Given the description of an element on the screen output the (x, y) to click on. 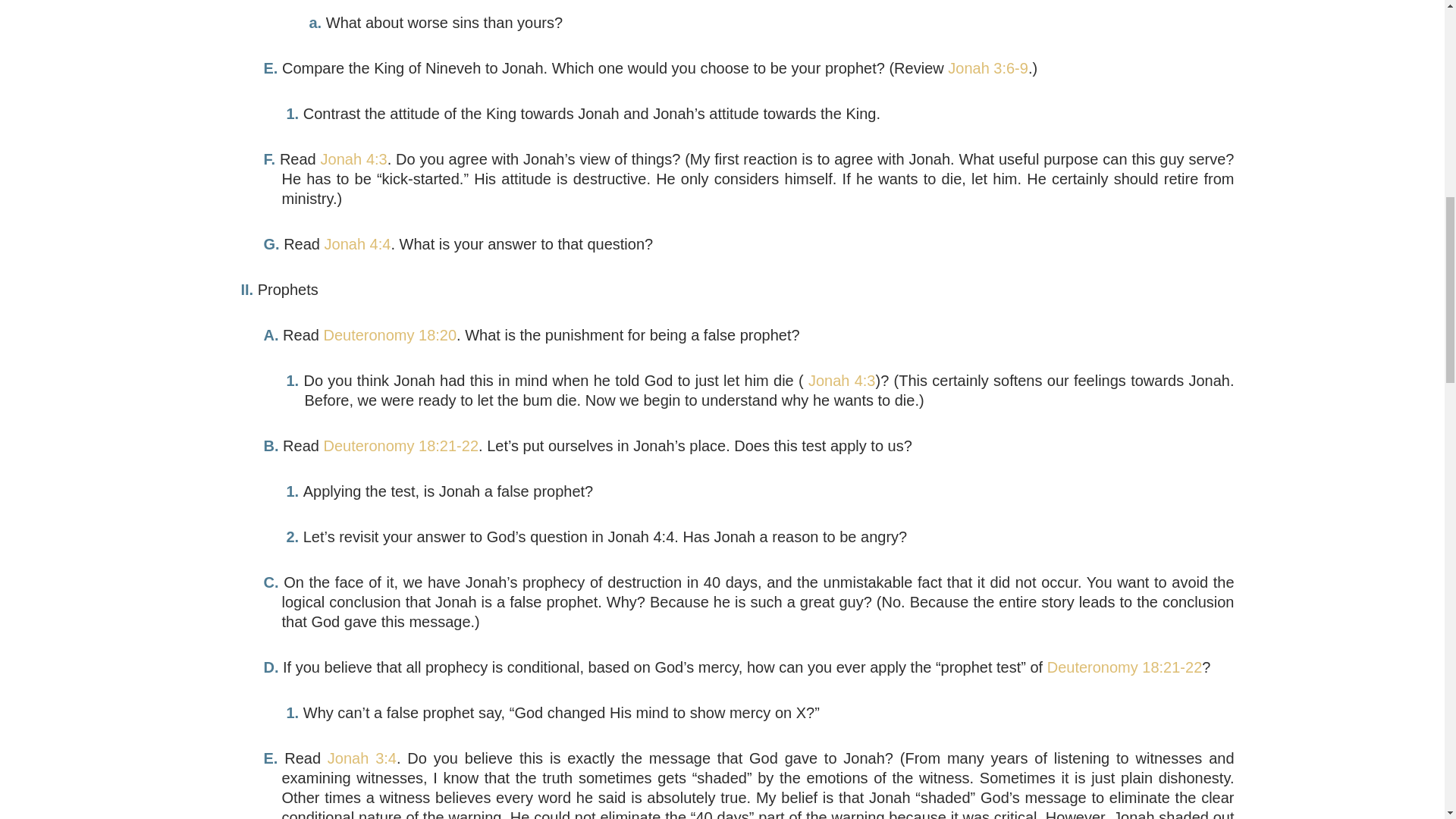
Deuteronomy 18:20 (390, 334)
Jonah 3:4 (361, 758)
Deuteronomy 18:21-22 (1124, 667)
Jonah 4:3 (839, 380)
Jonah 4:4 (357, 243)
Jonah 4:3 (353, 158)
Deuteronomy 18:21-22 (401, 445)
Jonah 3:6-9 (987, 67)
